Given the description of an element on the screen output the (x, y) to click on. 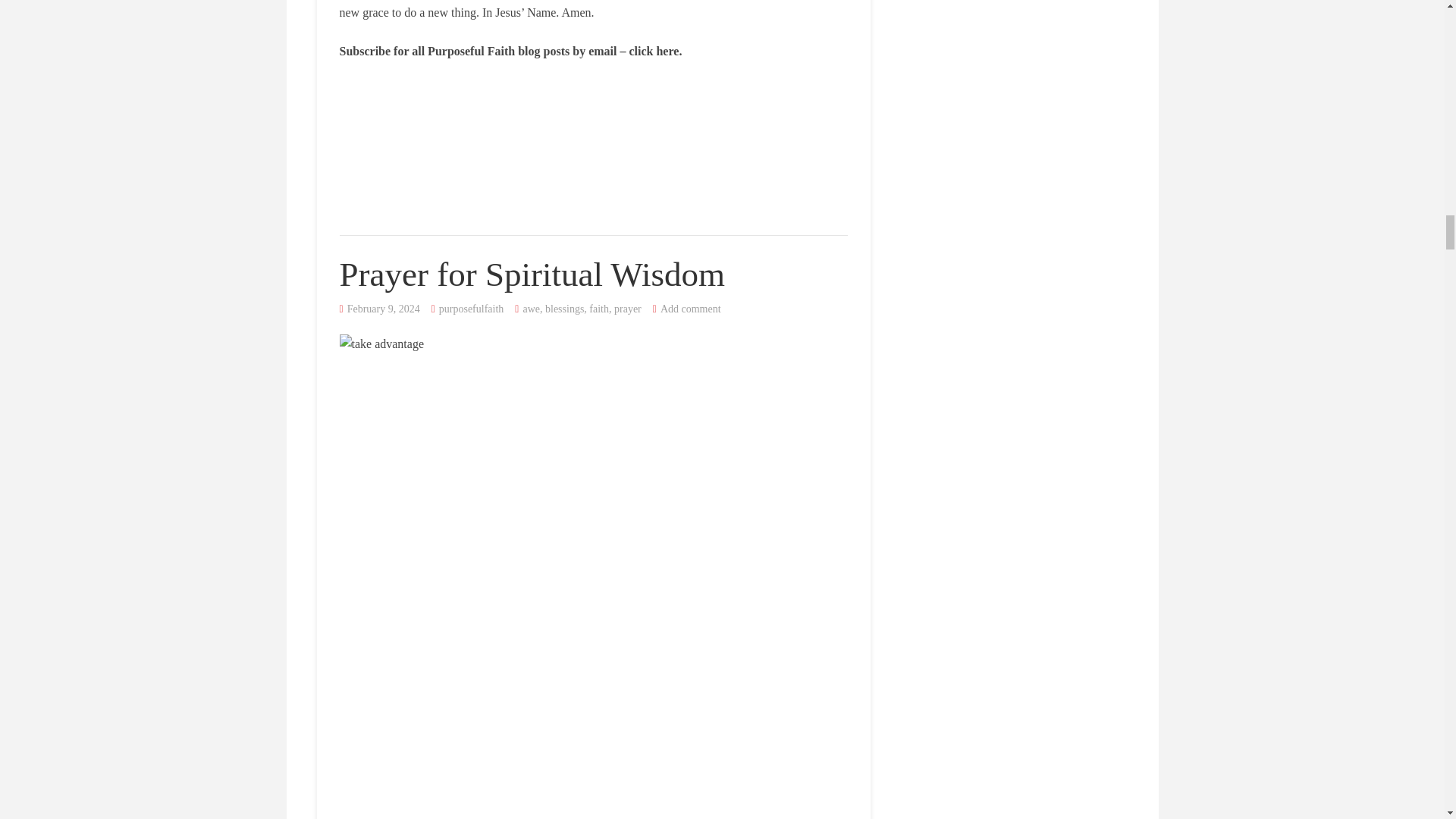
Prayer for Spiritual Wisdom (532, 274)
prayer (628, 308)
blessings (563, 308)
purposefulfaith (471, 308)
awe (531, 308)
faith (598, 308)
Add comment (690, 308)
Prayer for Spiritual Wisdom (532, 274)
click here. (654, 51)
